Given the description of an element on the screen output the (x, y) to click on. 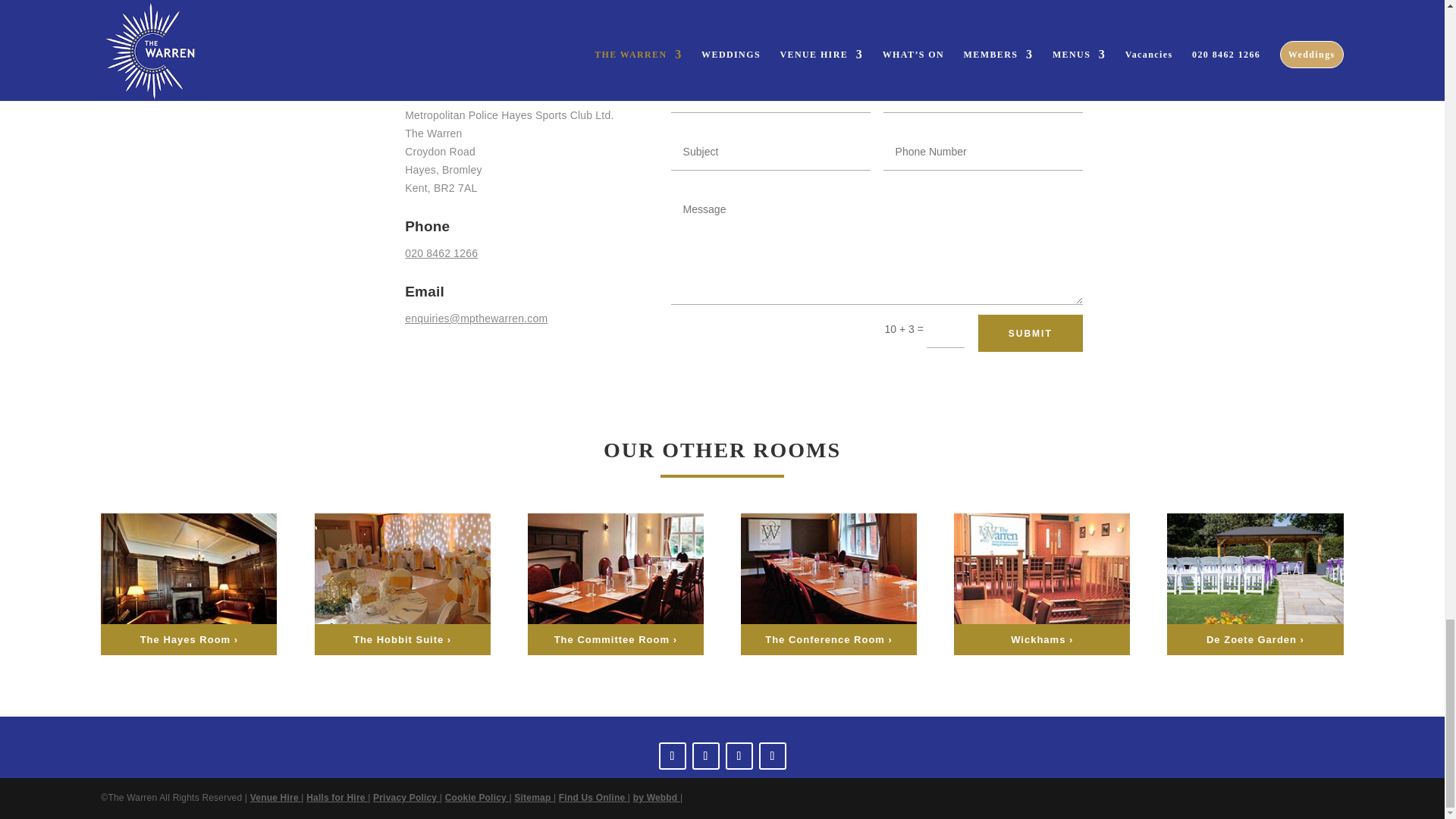
Follow on Instagram (705, 755)
Follow on X (738, 755)
Follow on LinkedIn (772, 755)
Follow on Facebook (671, 755)
